Given the description of an element on the screen output the (x, y) to click on. 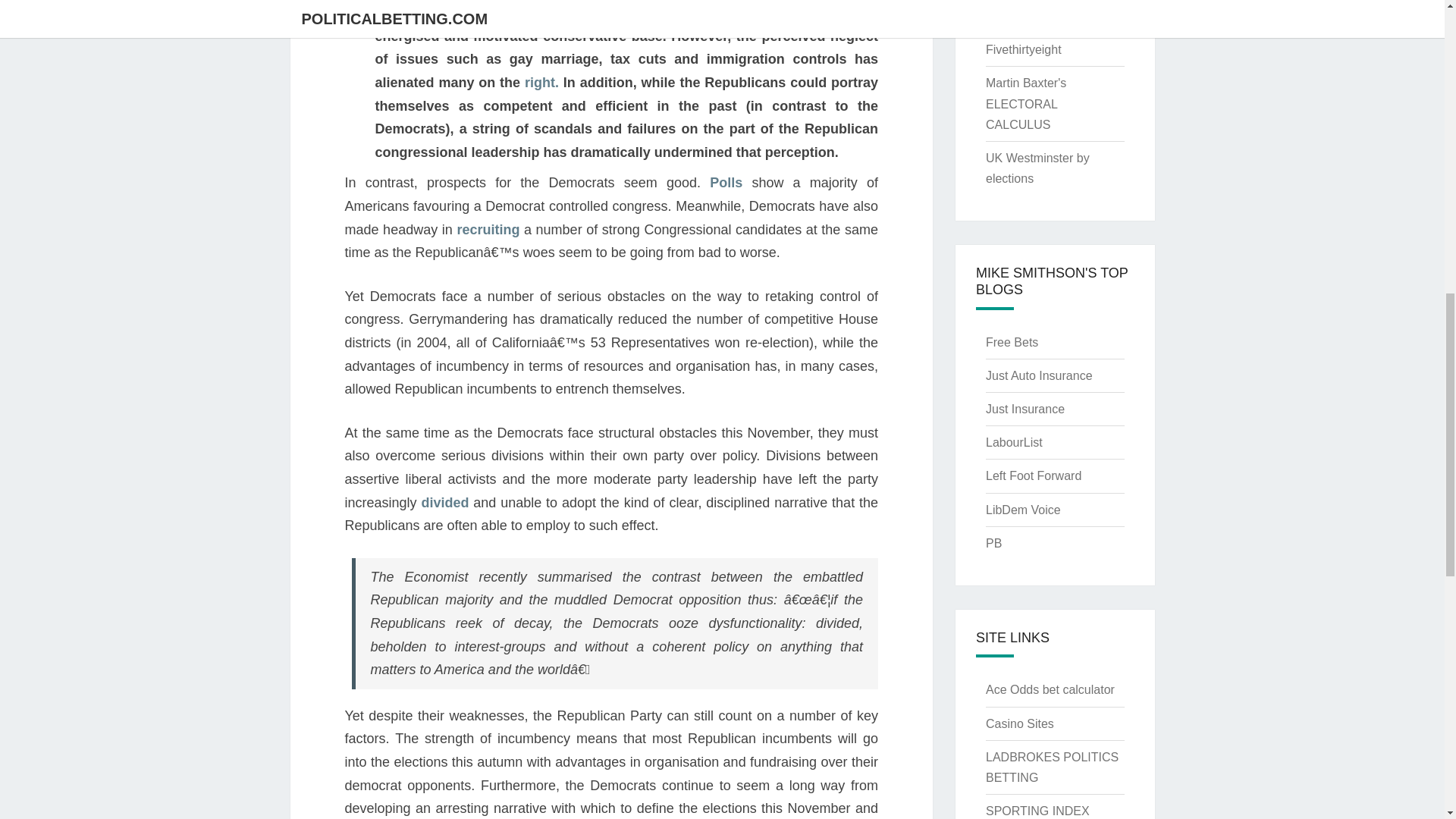
Left Foot Forward (1033, 475)
recruiting (490, 229)
Just Insurance (1024, 408)
LibDem Voice (1023, 509)
Casino Sites (1019, 723)
Economist US (1023, 15)
SPORTING INDEX (1037, 810)
Polls (730, 182)
Free Bets (1011, 341)
PB (993, 543)
